Given the description of an element on the screen output the (x, y) to click on. 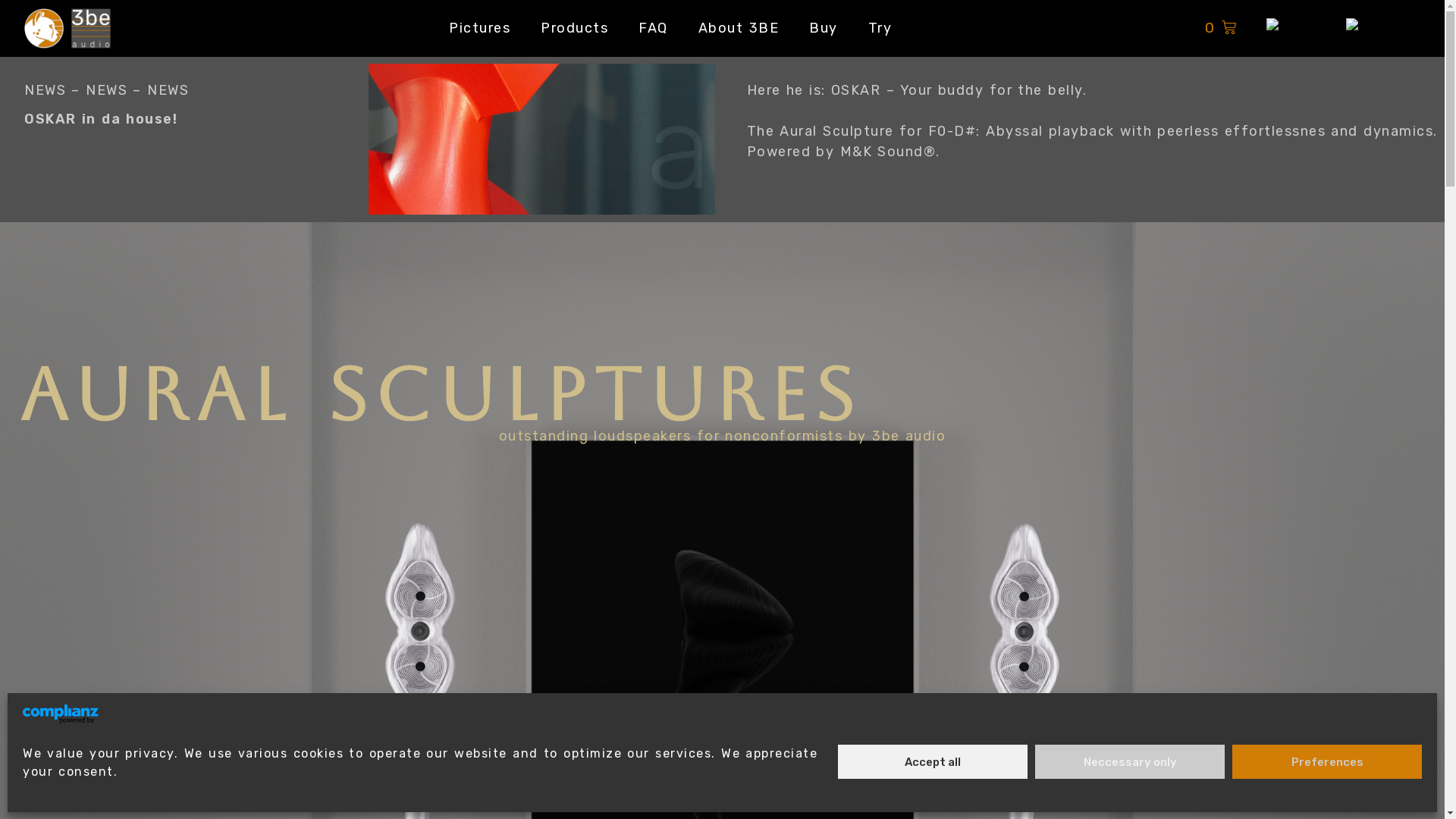
Preferences Element type: text (1326, 761)
About 3BE Element type: text (738, 28)
Buy Element type: text (823, 28)
0 Element type: text (1220, 28)
Pictures Element type: text (479, 28)
Neccessary only Element type: text (1129, 761)
FAQ Element type: text (653, 28)
Try Element type: text (880, 28)
Accept all Element type: text (932, 761)
Products Element type: text (574, 28)
